Given the description of an element on the screen output the (x, y) to click on. 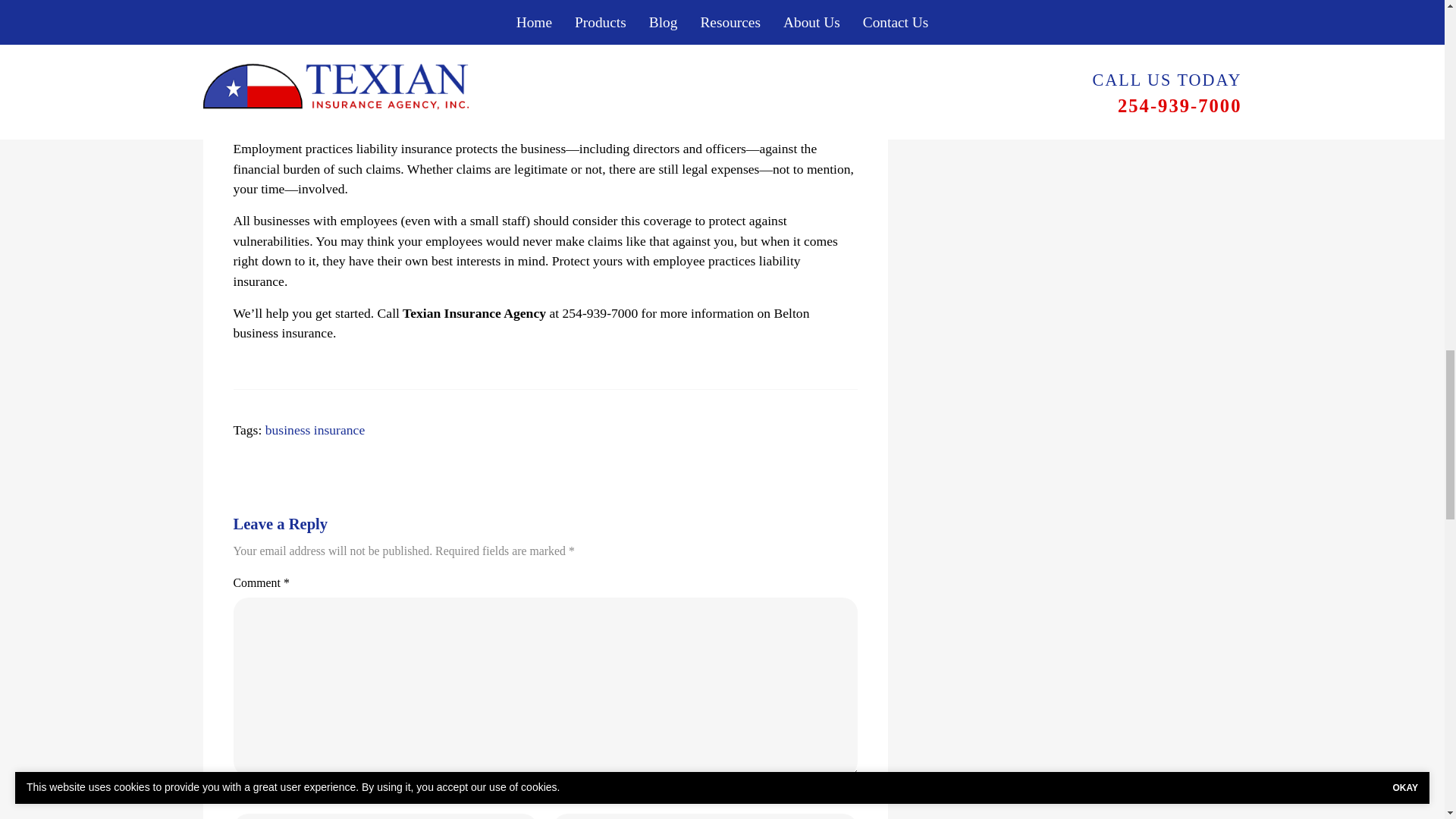
business insurance (314, 429)
